Given the description of an element on the screen output the (x, y) to click on. 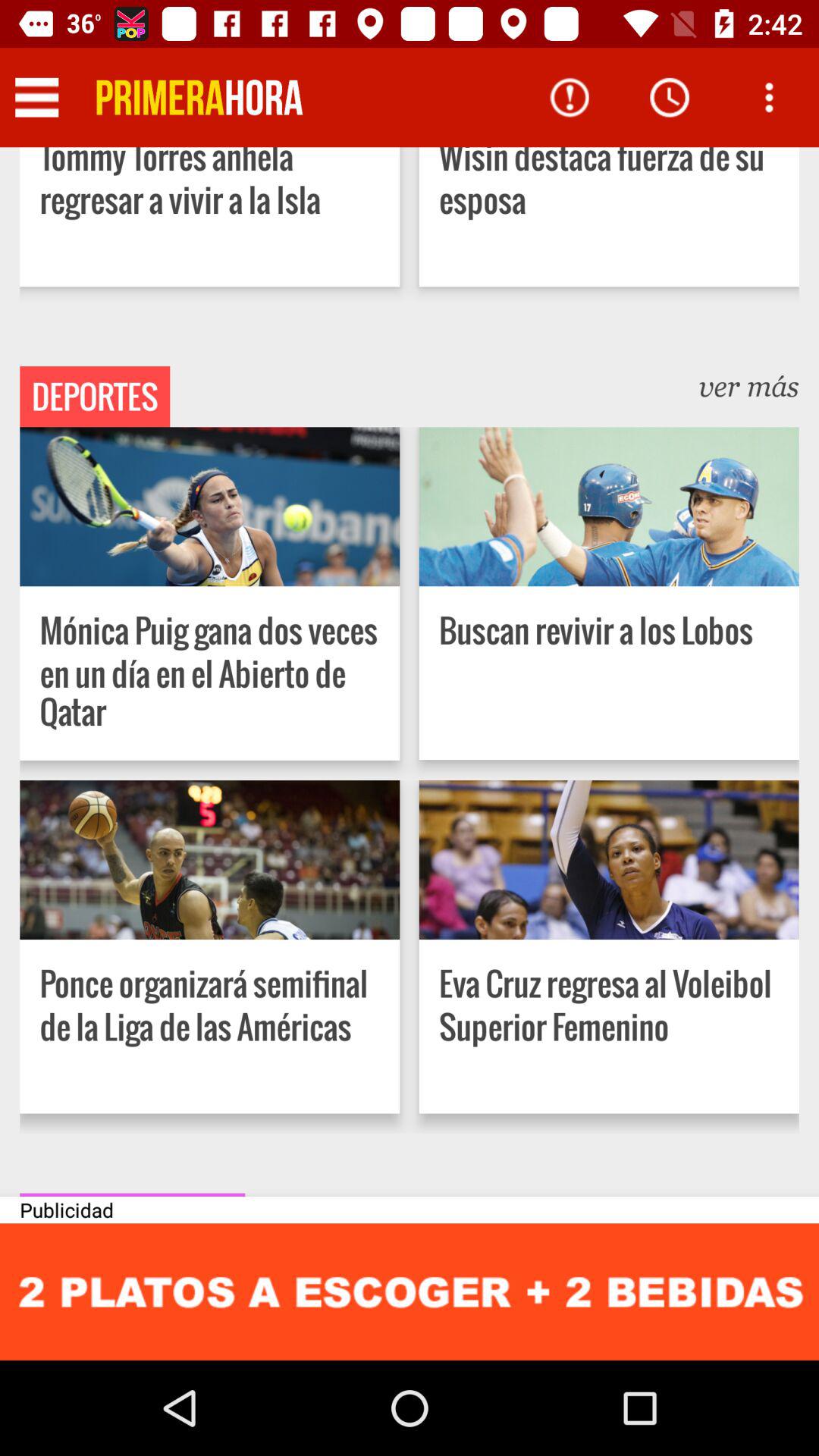
choose item above the publicidad item (132, 1194)
